Given the description of an element on the screen output the (x, y) to click on. 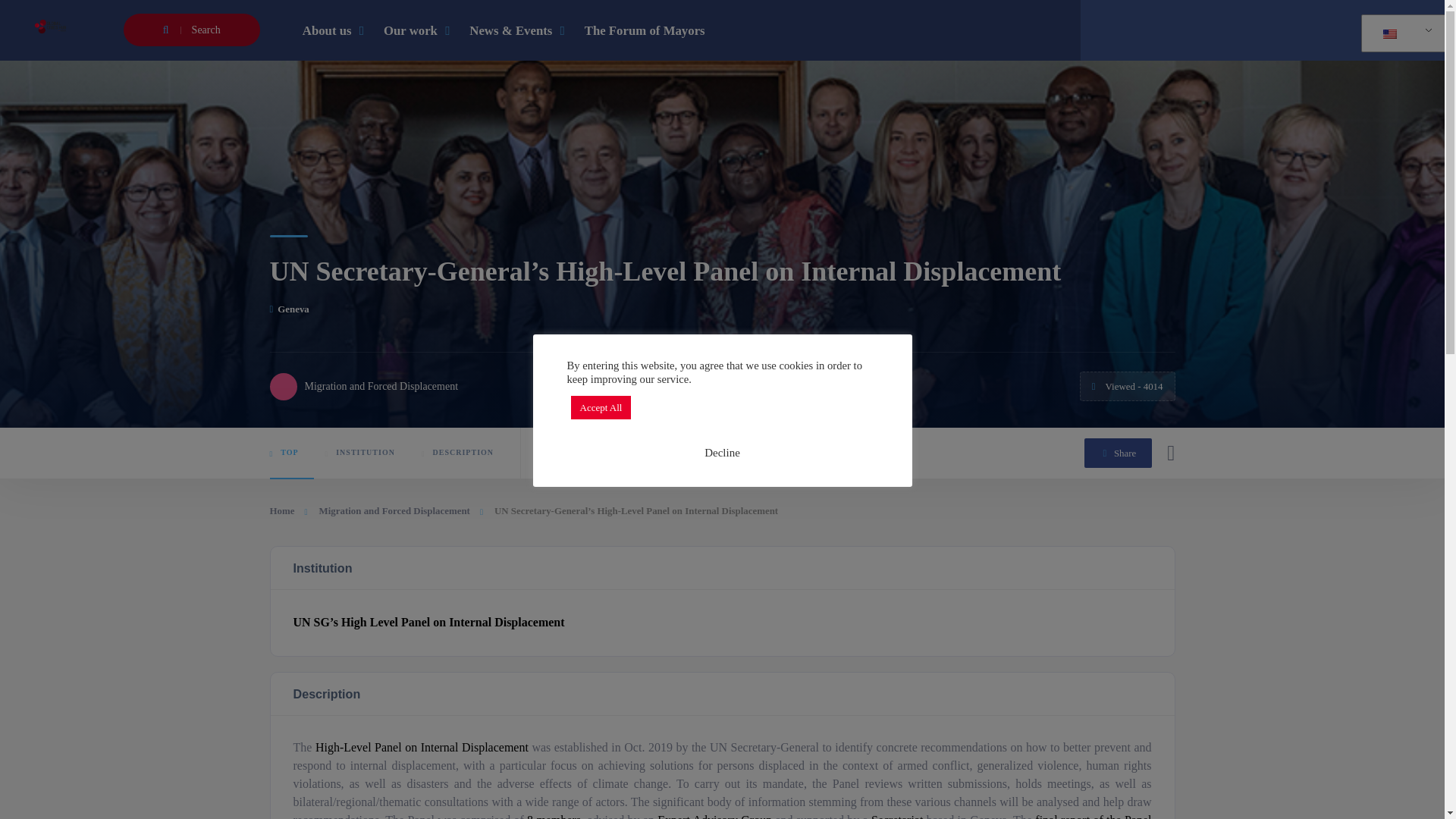
Geneva (288, 308)
High-Level Panel on Internal Displacement (421, 747)
TOP (291, 452)
English (1389, 33)
English (1401, 33)
Home (288, 510)
Migration and Forced Displacement (393, 510)
DESCRIPTION (465, 452)
About us (333, 30)
Migration and Forced Displacement (393, 510)
Home (288, 510)
Share (1117, 452)
INSTITUTION (367, 452)
Our work (416, 30)
Migration and Forced Displacement (363, 386)
